Given the description of an element on the screen output the (x, y) to click on. 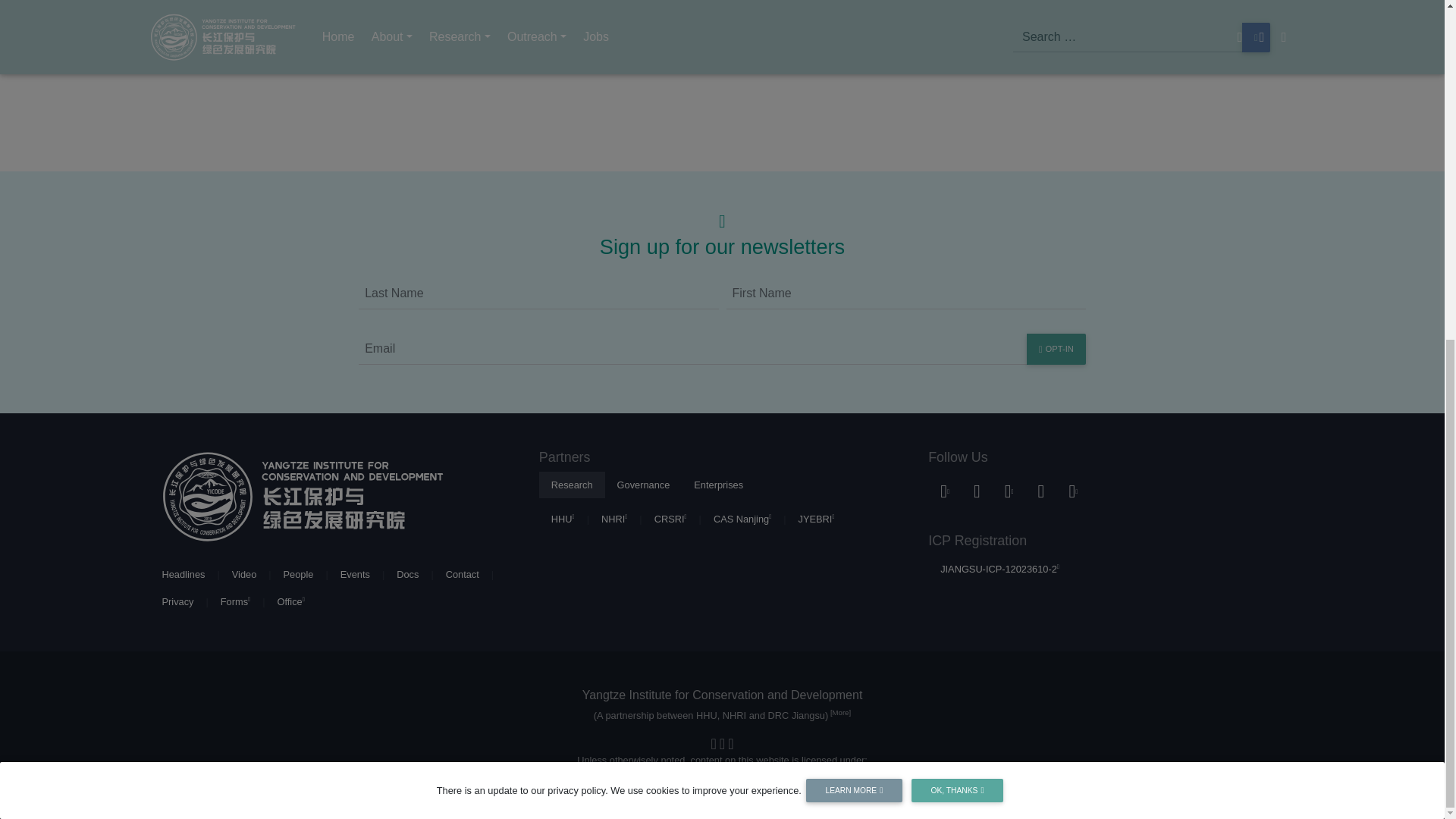
Headlines (182, 574)
OPT-IN (1056, 348)
